Given the description of an element on the screen output the (x, y) to click on. 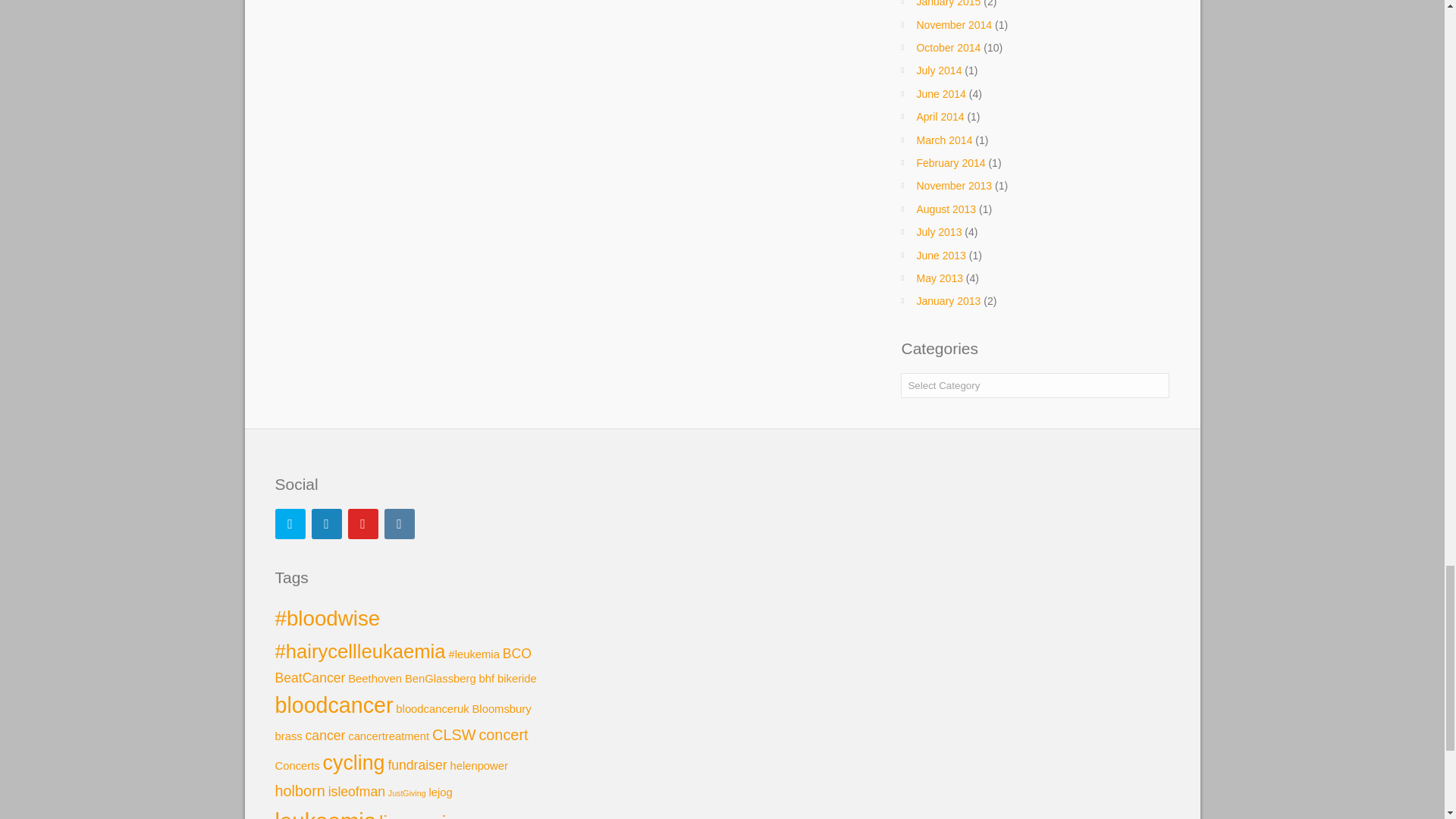
YouTube (362, 523)
Twitter (289, 523)
LinkedIn (325, 523)
Instagram (398, 523)
